Given the description of an element on the screen output the (x, y) to click on. 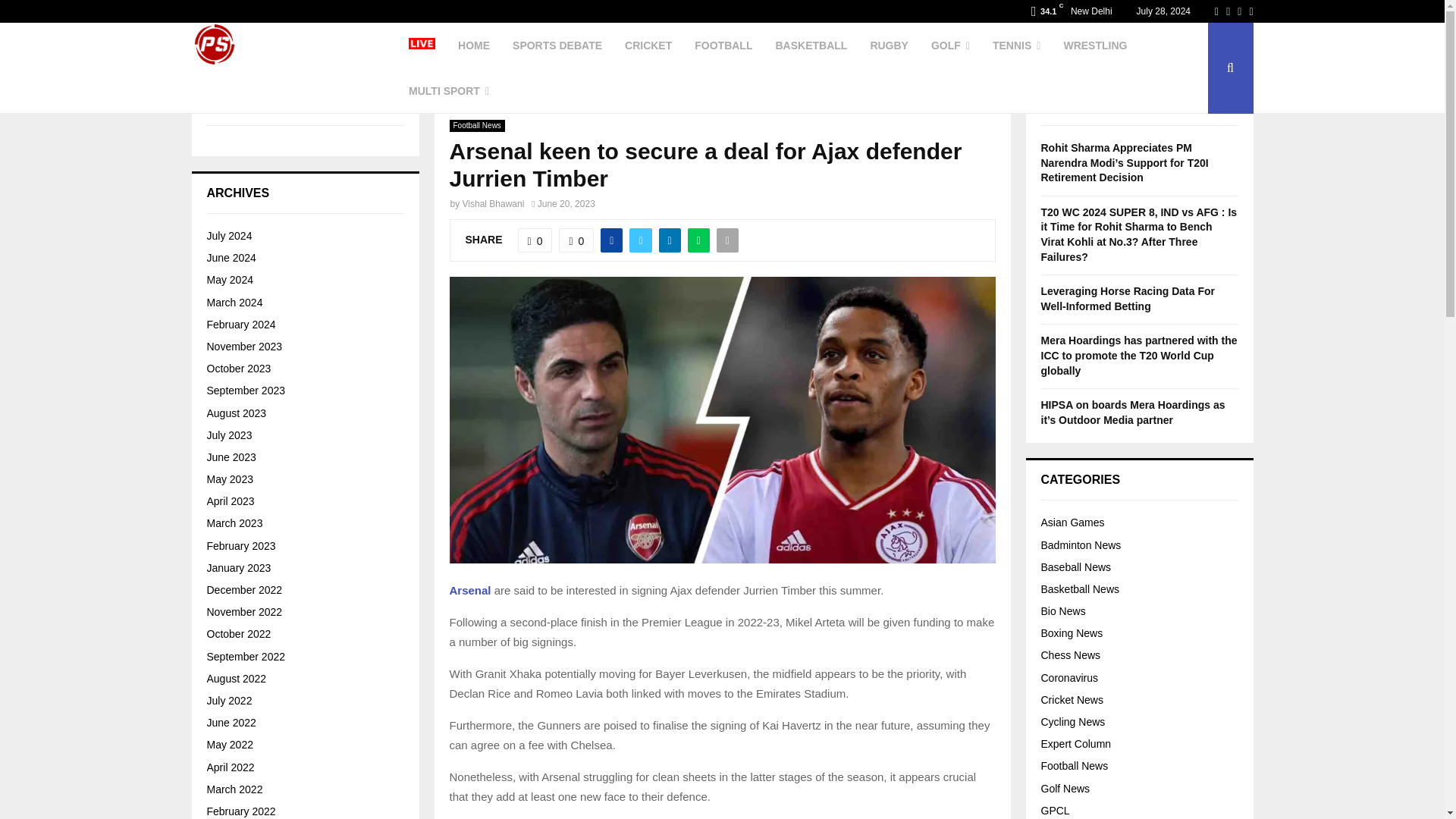
CRICKET (647, 44)
BASKETBALL (810, 44)
FOOTBALL (723, 44)
SPORTS DEBATE (557, 44)
TENNIS (1016, 44)
